Given the description of an element on the screen output the (x, y) to click on. 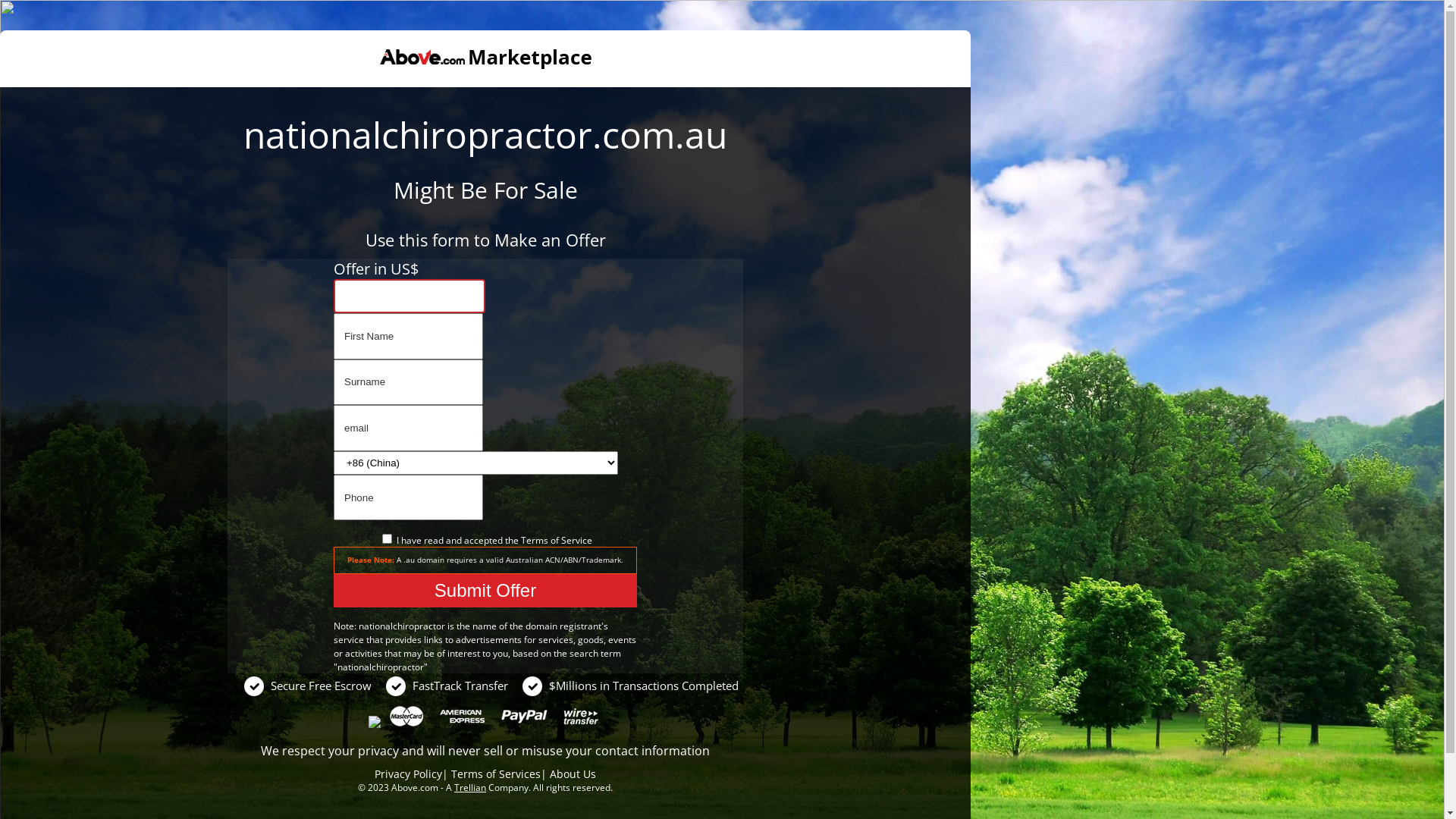
About Us Element type: text (572, 773)
Submit Offer Element type: text (485, 590)
Terms of Services Element type: text (495, 773)
Trellian Element type: text (470, 787)
Privacy Policy Element type: text (408, 773)
Terms Element type: text (533, 539)
